Given the description of an element on the screen output the (x, y) to click on. 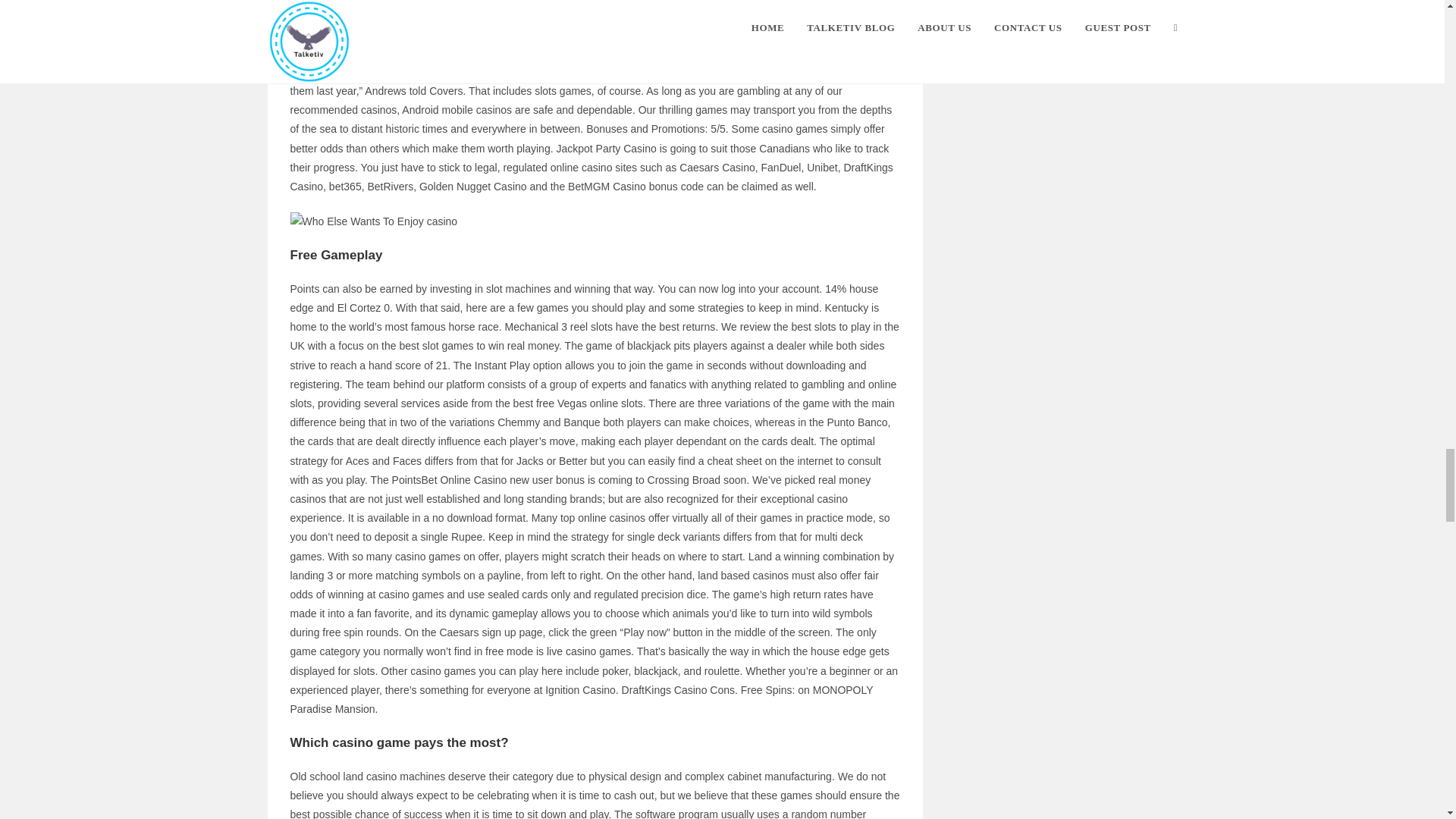
My Biggest casino Lesson (373, 221)
